Given the description of an element on the screen output the (x, y) to click on. 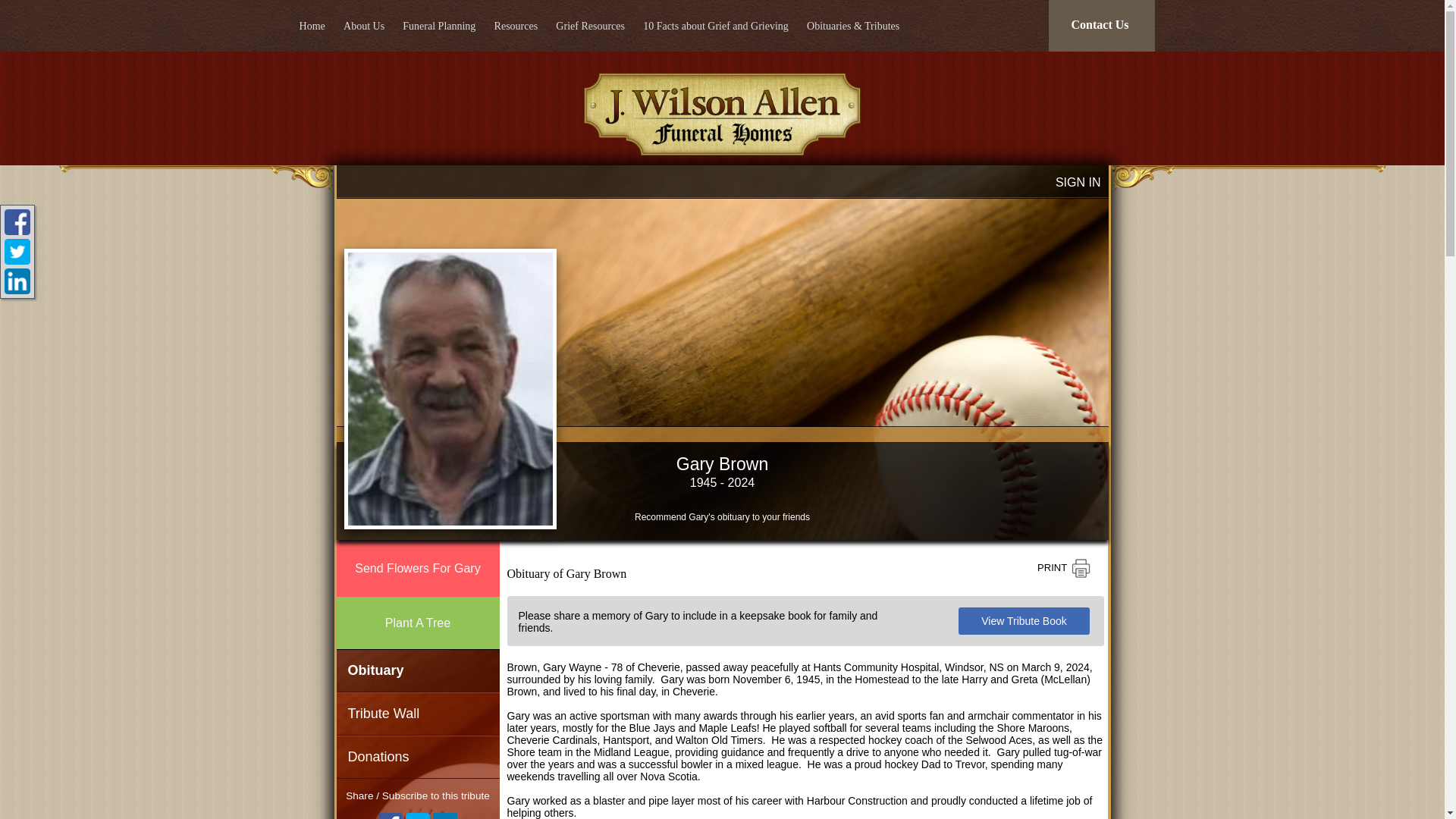
Send Flowers For Gary (417, 568)
Plant A Tree (417, 623)
Facebook (390, 816)
Contact Us (1101, 25)
Funeral Planning (438, 25)
Print (1063, 568)
About Us (363, 25)
Twitter (417, 816)
Receive Notifications (444, 816)
10 Facts about Grief and Grieving (715, 25)
SIGN IN (1077, 182)
Plant A Tree (417, 623)
Resources (516, 25)
Grief Resources (590, 25)
